Given the description of an element on the screen output the (x, y) to click on. 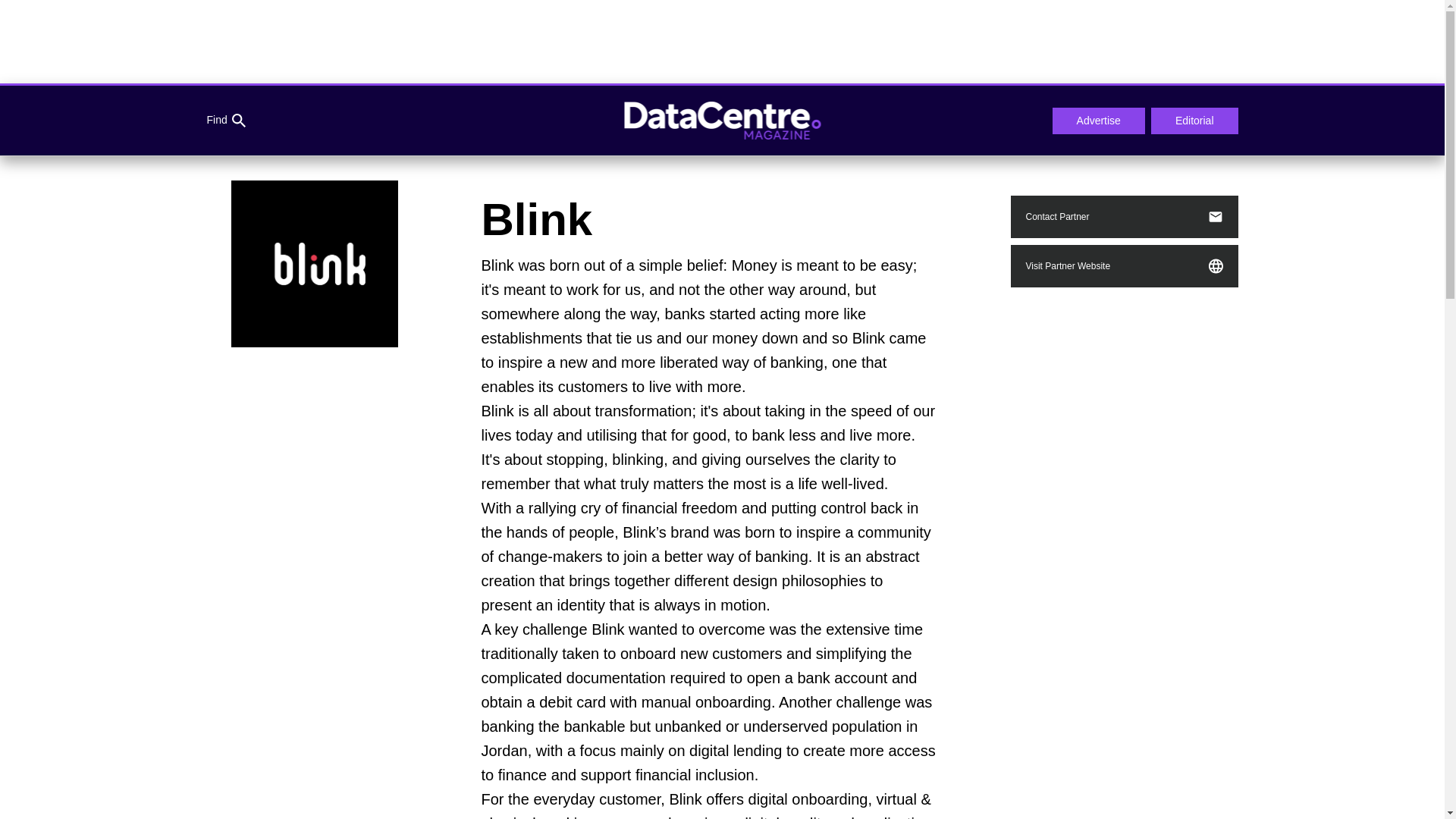
Find (225, 120)
Visit Partner Website (1123, 265)
Contact Partner (1123, 216)
Editorial (1195, 121)
Advertise (1098, 121)
